Given the description of an element on the screen output the (x, y) to click on. 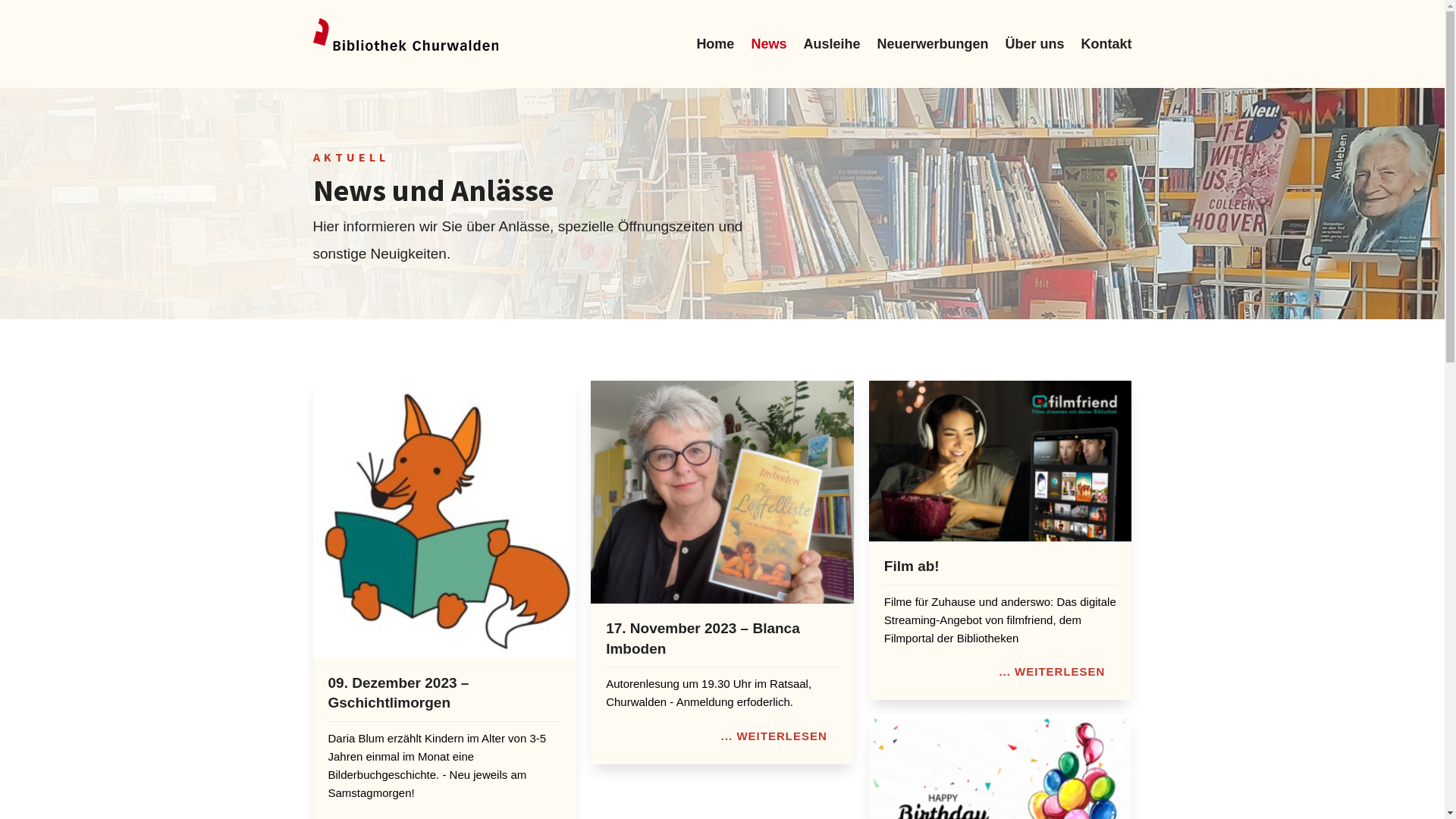
Home Element type: text (715, 43)
Ausleihe Element type: text (831, 43)
... WEITERLESEN Element type: text (1051, 671)
Kontakt Element type: text (1106, 43)
... WEITERLESEN Element type: text (773, 735)
News Element type: text (768, 43)
Film ab! Element type: text (911, 566)
Neuerwerbungen Element type: text (932, 43)
